Given the description of an element on the screen output the (x, y) to click on. 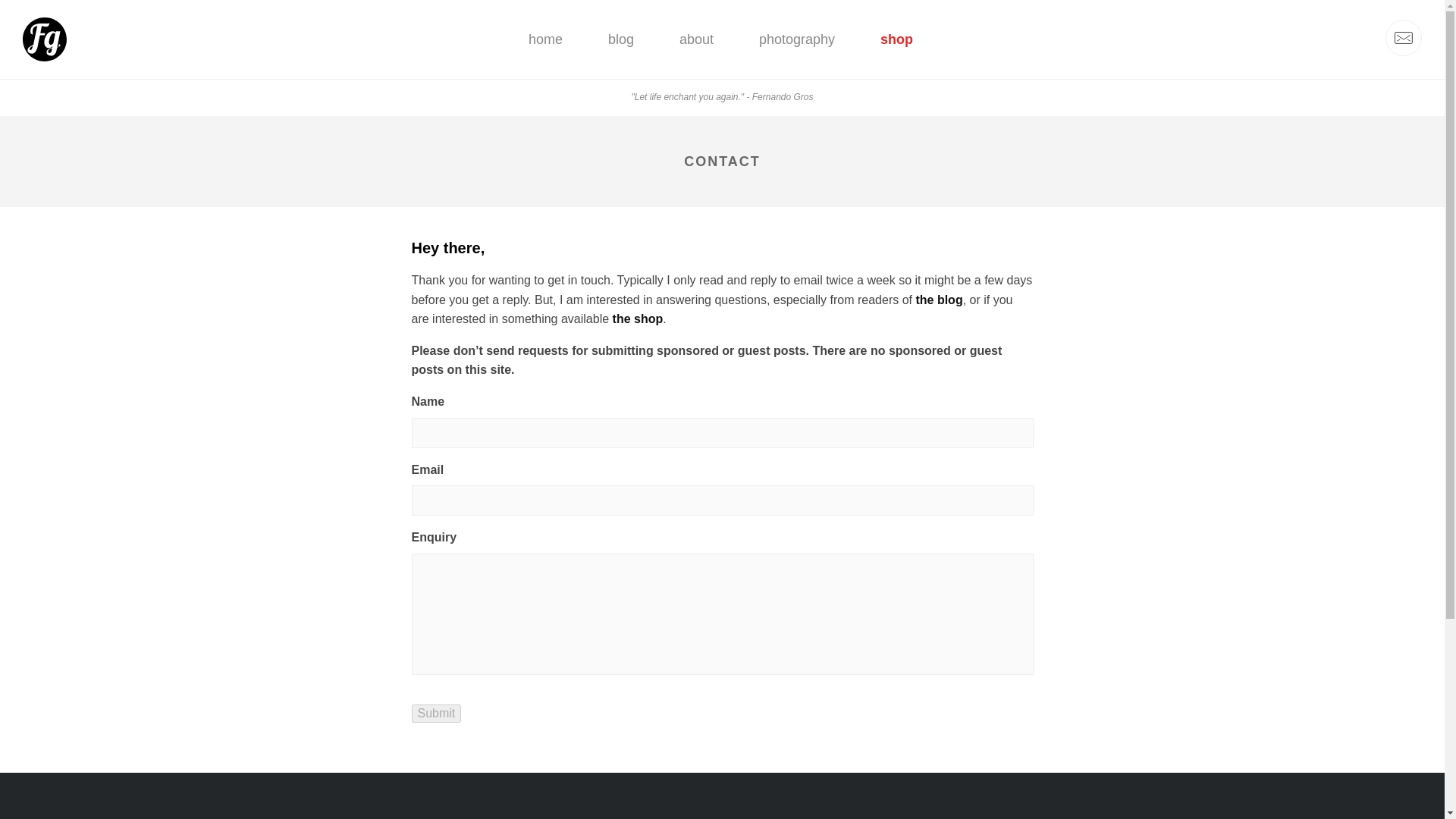
the shop (637, 319)
the blog (938, 300)
Submit (435, 713)
Submit (435, 713)
